Given the description of an element on the screen output the (x, y) to click on. 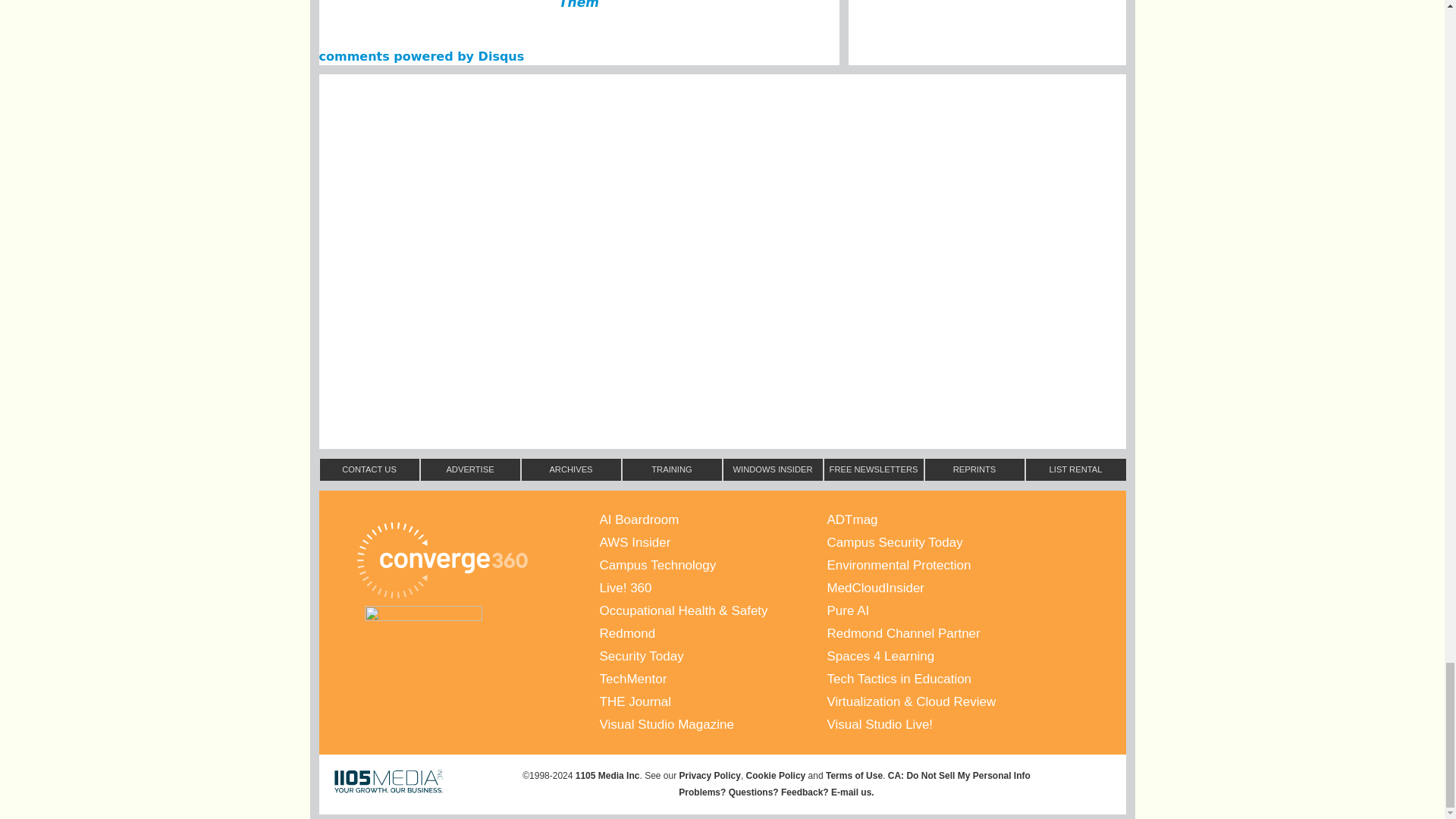
3rd party ad content (721, 120)
comments powered by Disqus (421, 56)
3rd party ad content (721, 201)
